Given the description of an element on the screen output the (x, y) to click on. 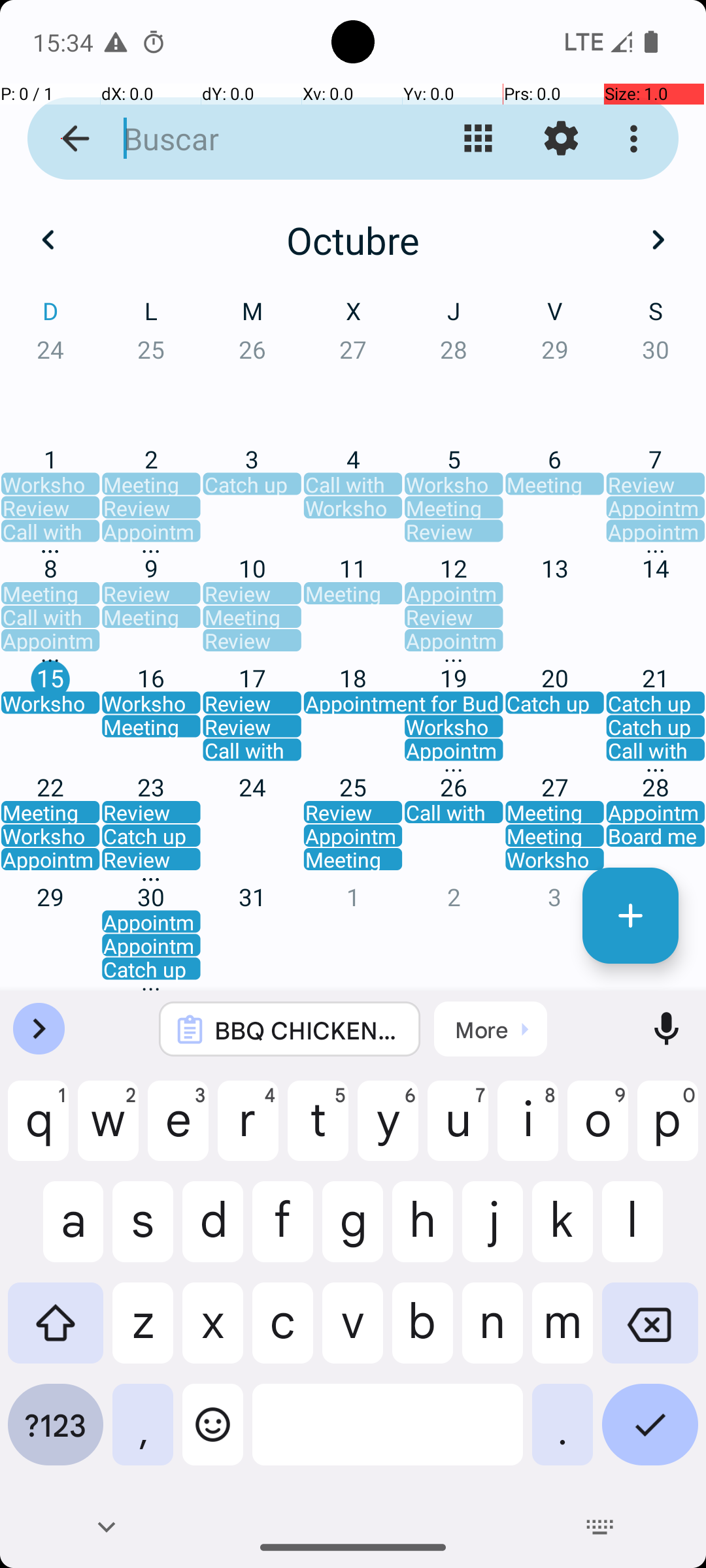
BBQ CHICKEN QUESADILLAS  Servings: 8 servings Time: 45 mins  A quick and easy meal, perfect for busy weekdays.  Ingredients: - as needed  Directions: 1. Mix shredded cooked chicken with BBQ sauce. Place on tortillas with cheese, fold and cook until crispy. Feel free to substitute with ingredients you have on hand.  Shared with https://play.google.com/store/apps/details?id=com.flauschcode.broccoli Element type: android.widget.TextView (306, 1029)
